Given the description of an element on the screen output the (x, y) to click on. 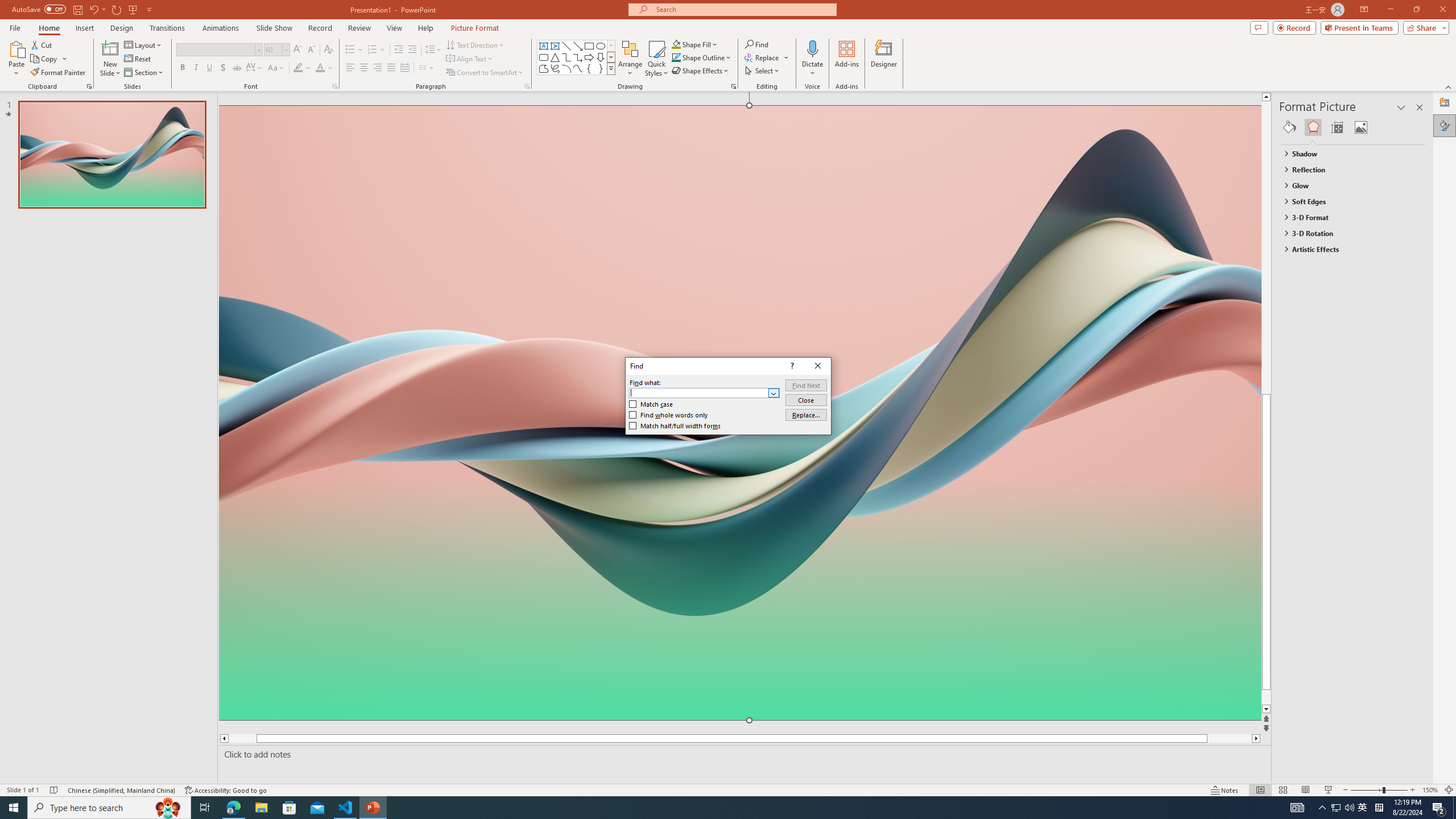
Match half/full width forms (675, 425)
Class: NetUIGalleryContainer (1352, 126)
Find what (698, 392)
